Given the description of an element on the screen output the (x, y) to click on. 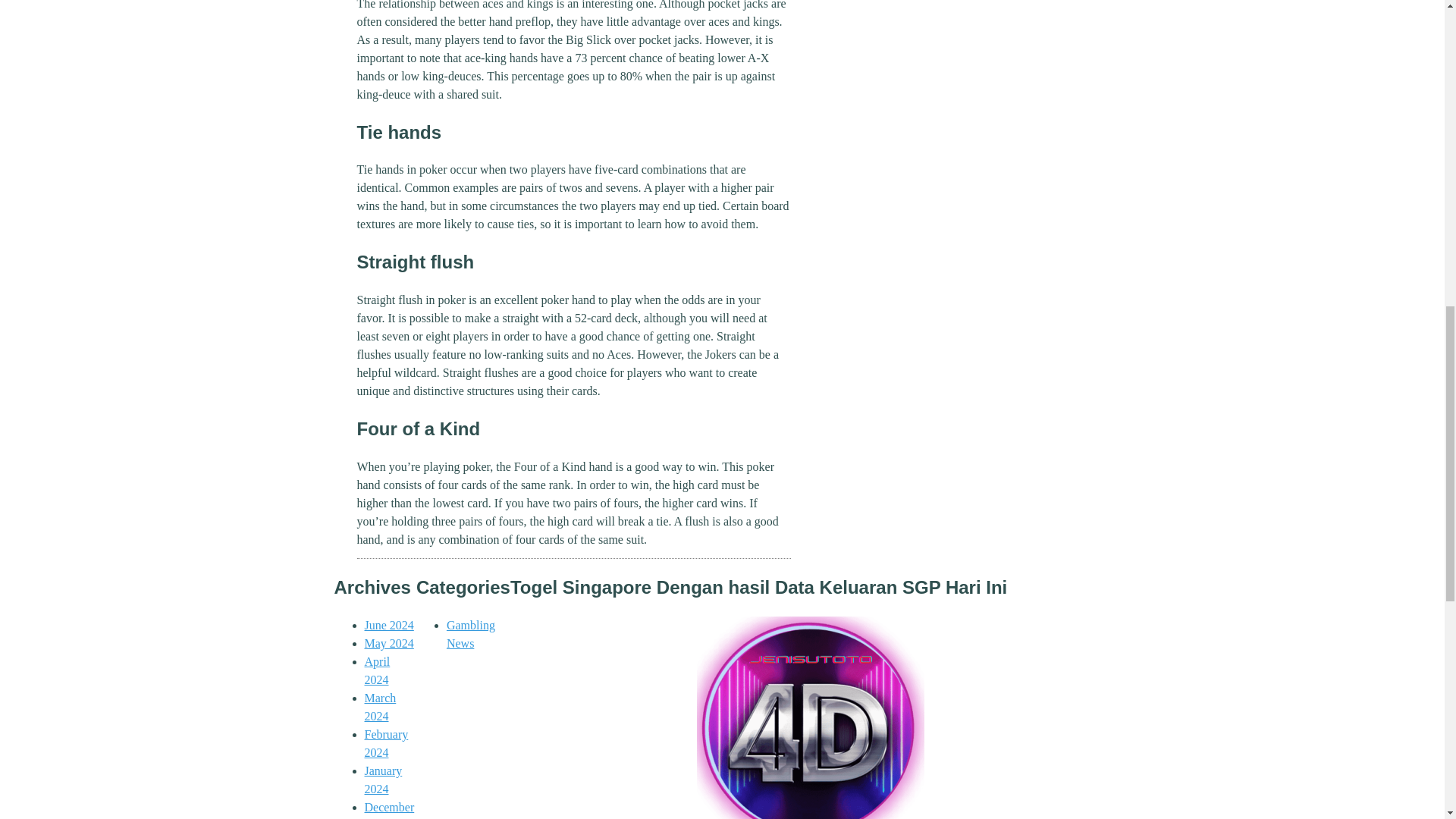
December 2023 (388, 809)
May 2024 (388, 643)
togel singapore (810, 717)
Gambling News (470, 634)
February 2024 (385, 743)
March 2024 (380, 706)
January 2024 (382, 779)
June 2024 (388, 625)
